Given the description of an element on the screen output the (x, y) to click on. 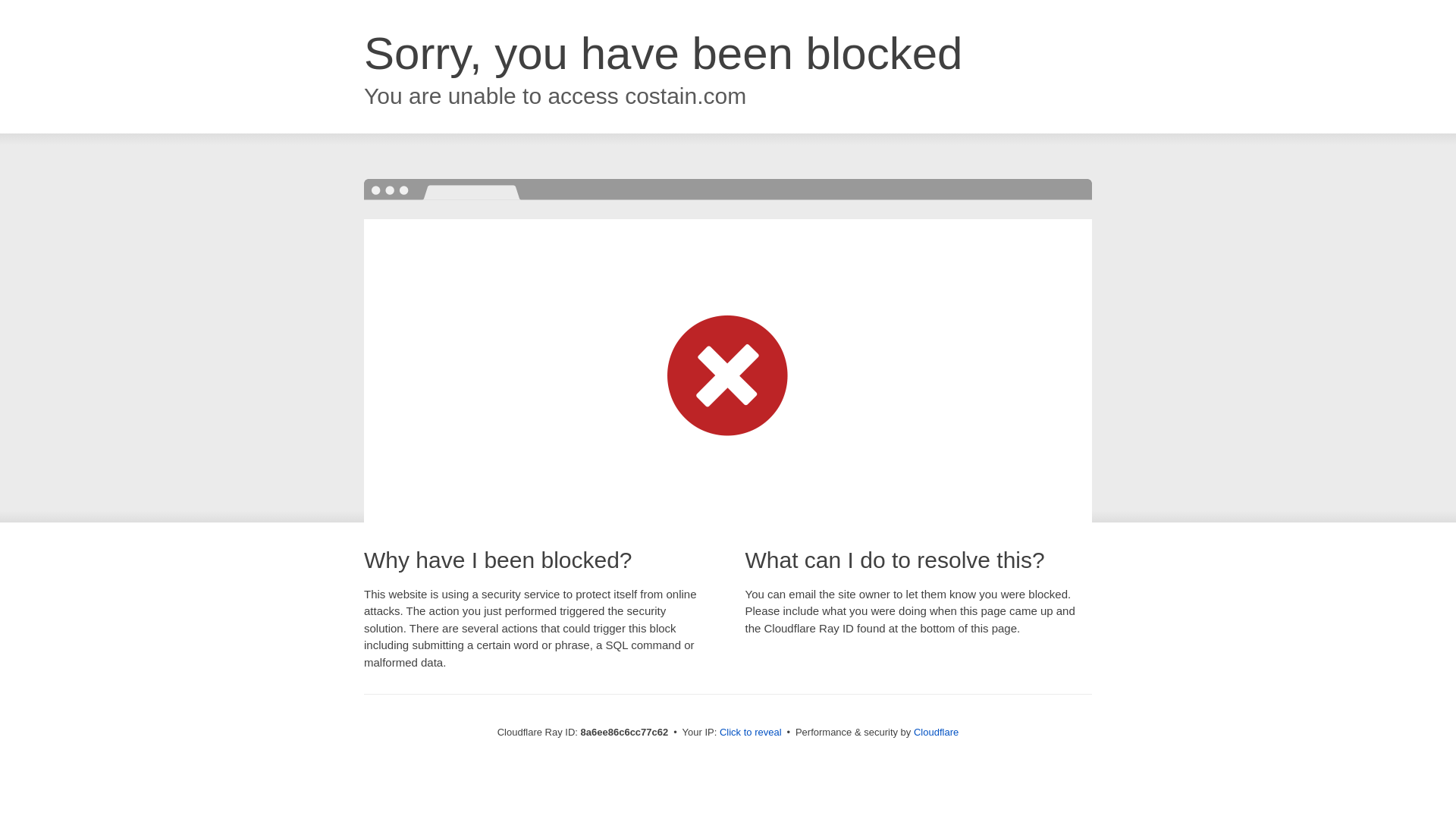
Click to reveal (750, 732)
Cloudflare (936, 731)
